Given the description of an element on the screen output the (x, y) to click on. 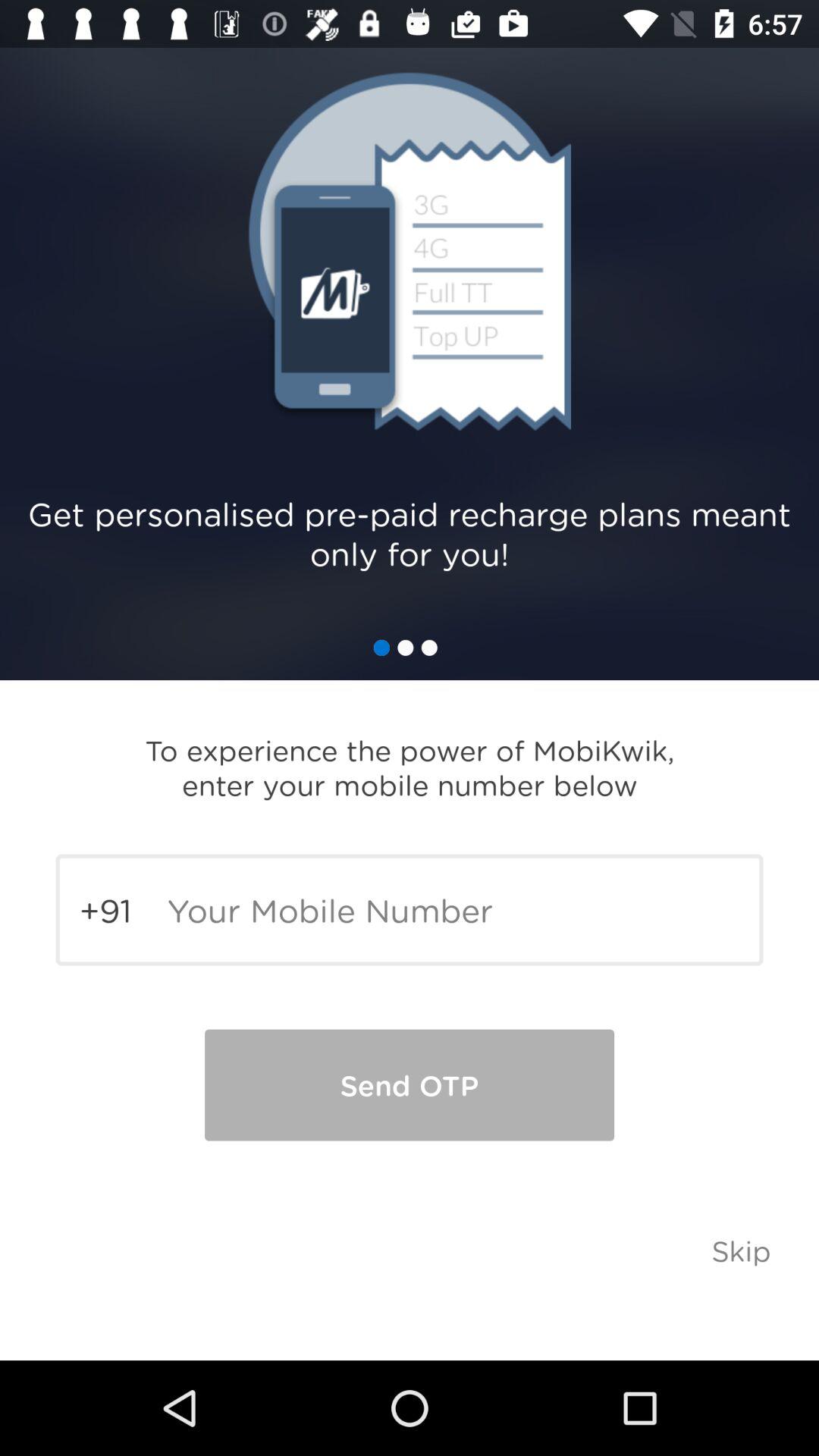
launch skip (741, 1250)
